Given the description of an element on the screen output the (x, y) to click on. 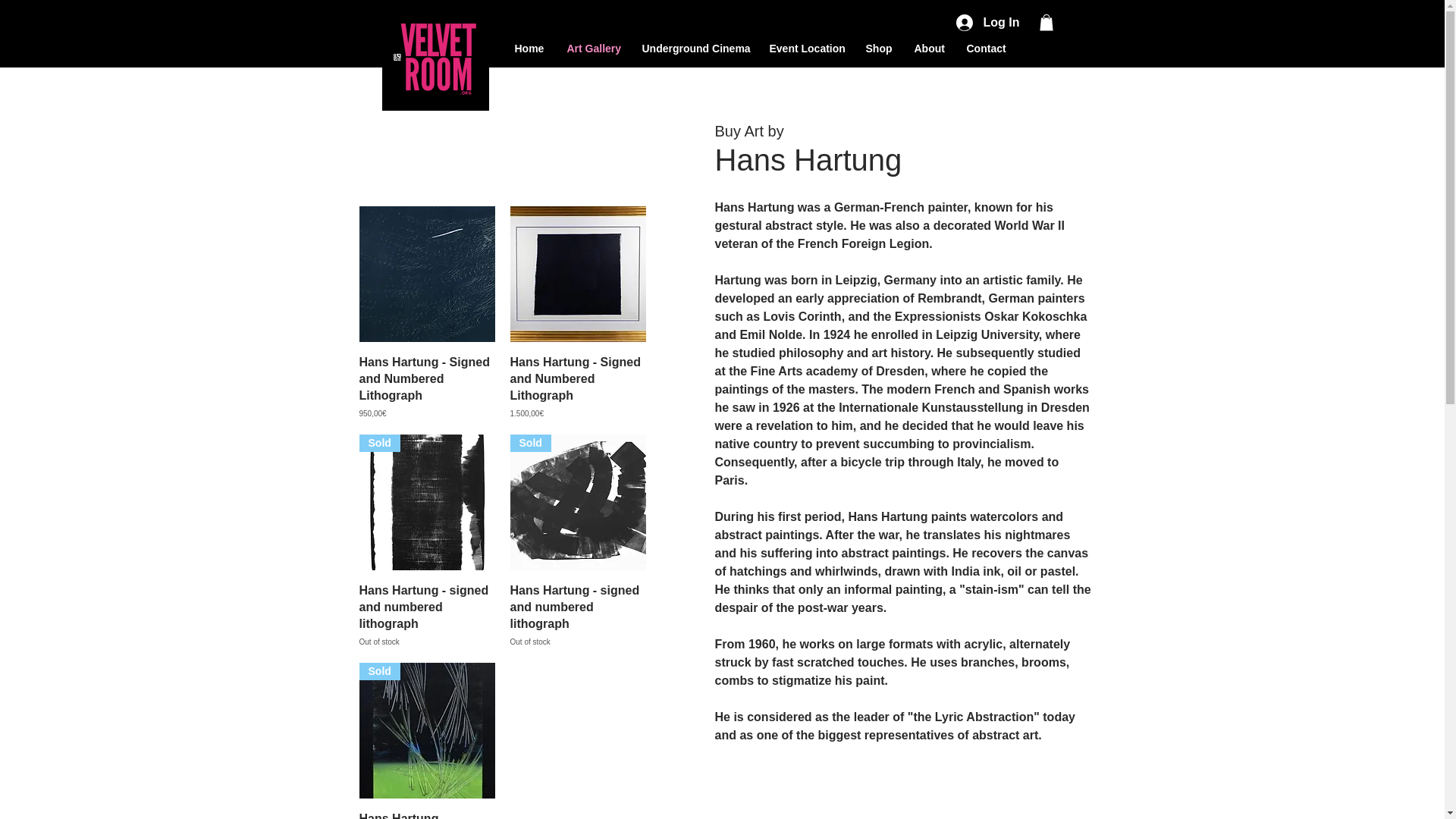
Sold (577, 502)
About (928, 47)
Home (529, 47)
Contact (985, 47)
Shop (877, 47)
Underground Cinema (694, 47)
Log In (985, 22)
VELVET ROOM-2.png (427, 614)
Event Location (435, 56)
Sold (806, 47)
Art Gallery (427, 502)
